Given the description of an element on the screen output the (x, y) to click on. 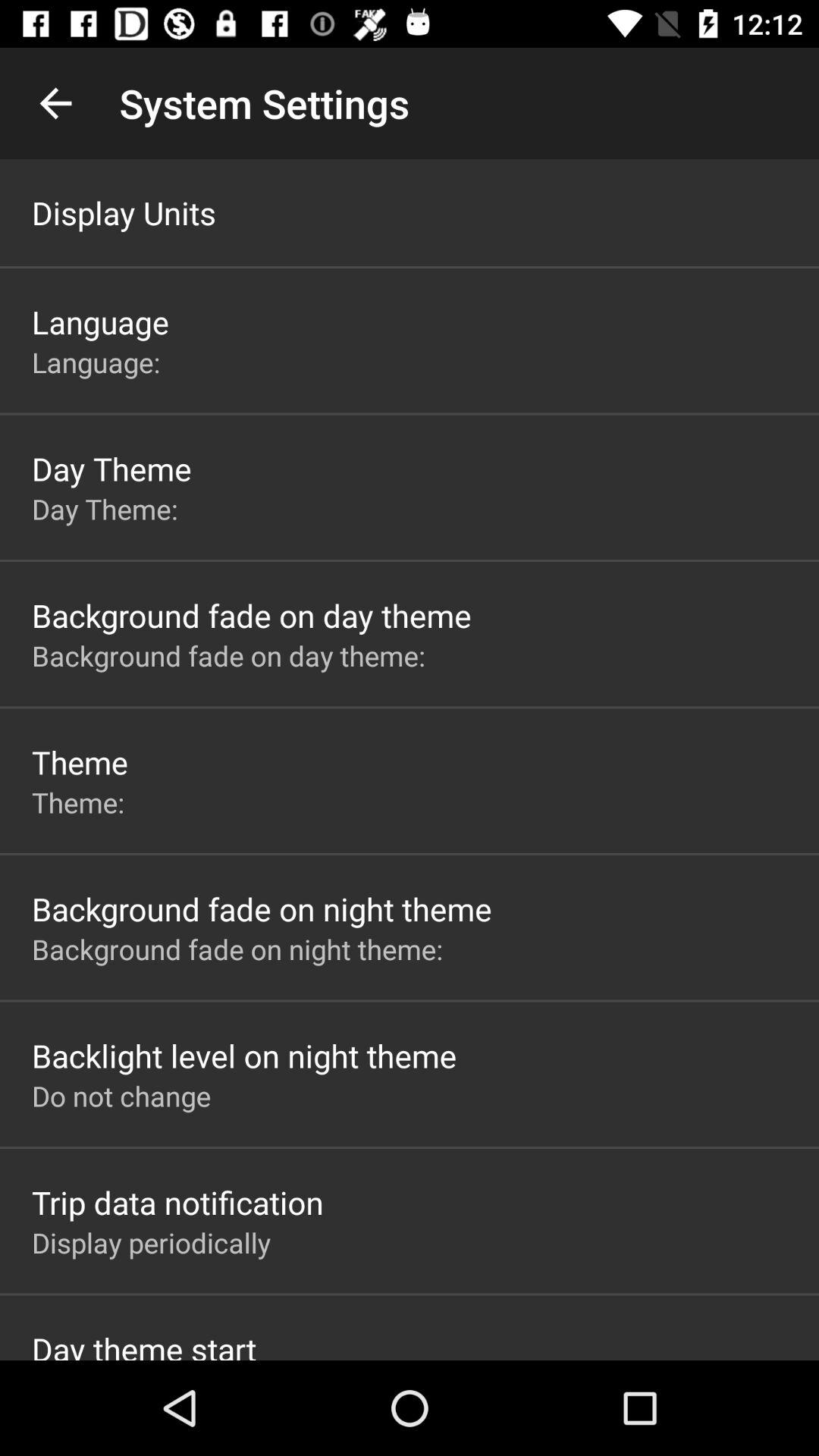
select display units app (123, 212)
